Given the description of an element on the screen output the (x, y) to click on. 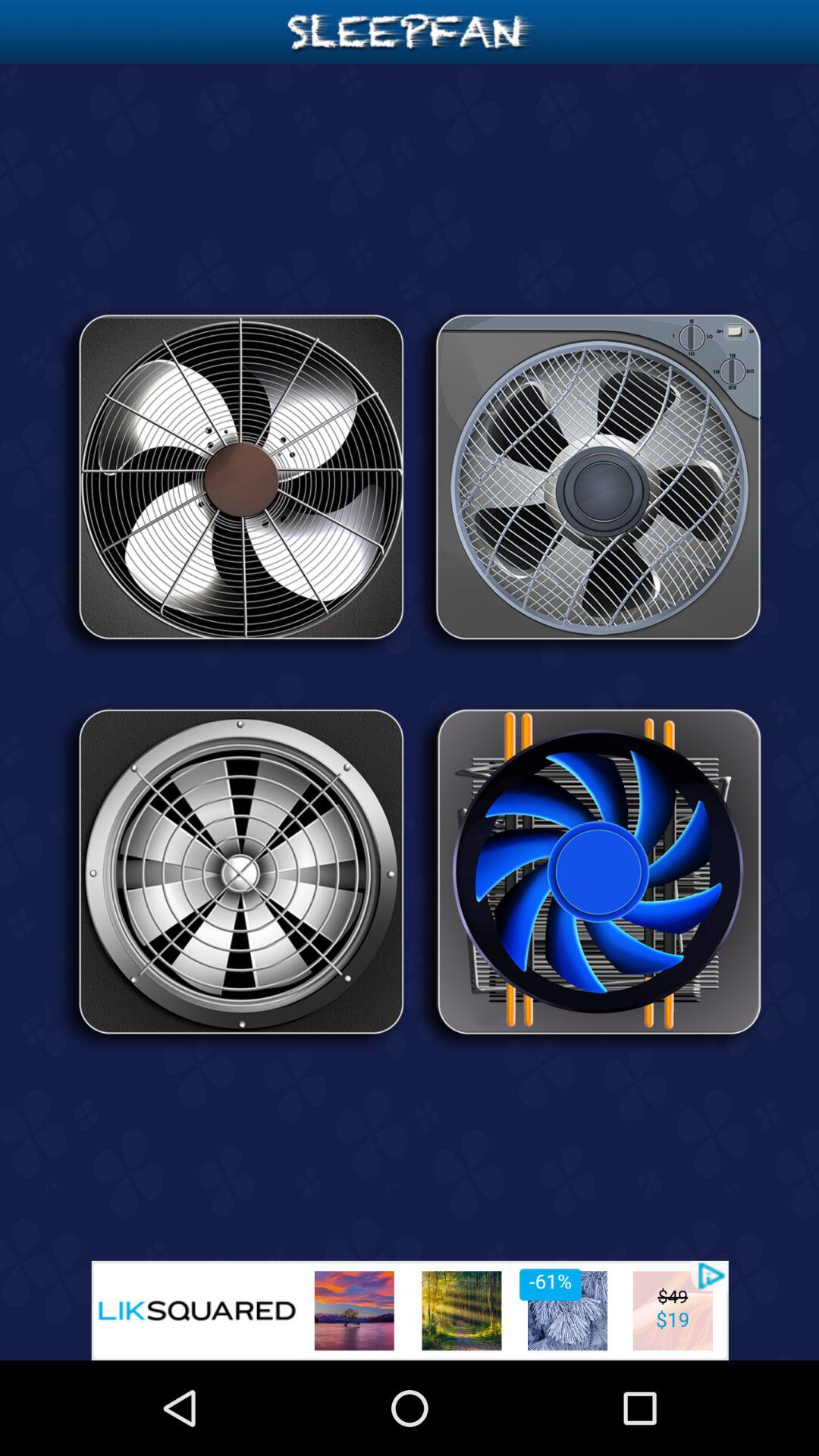
select this fan (587, 877)
